Given the description of an element on the screen output the (x, y) to click on. 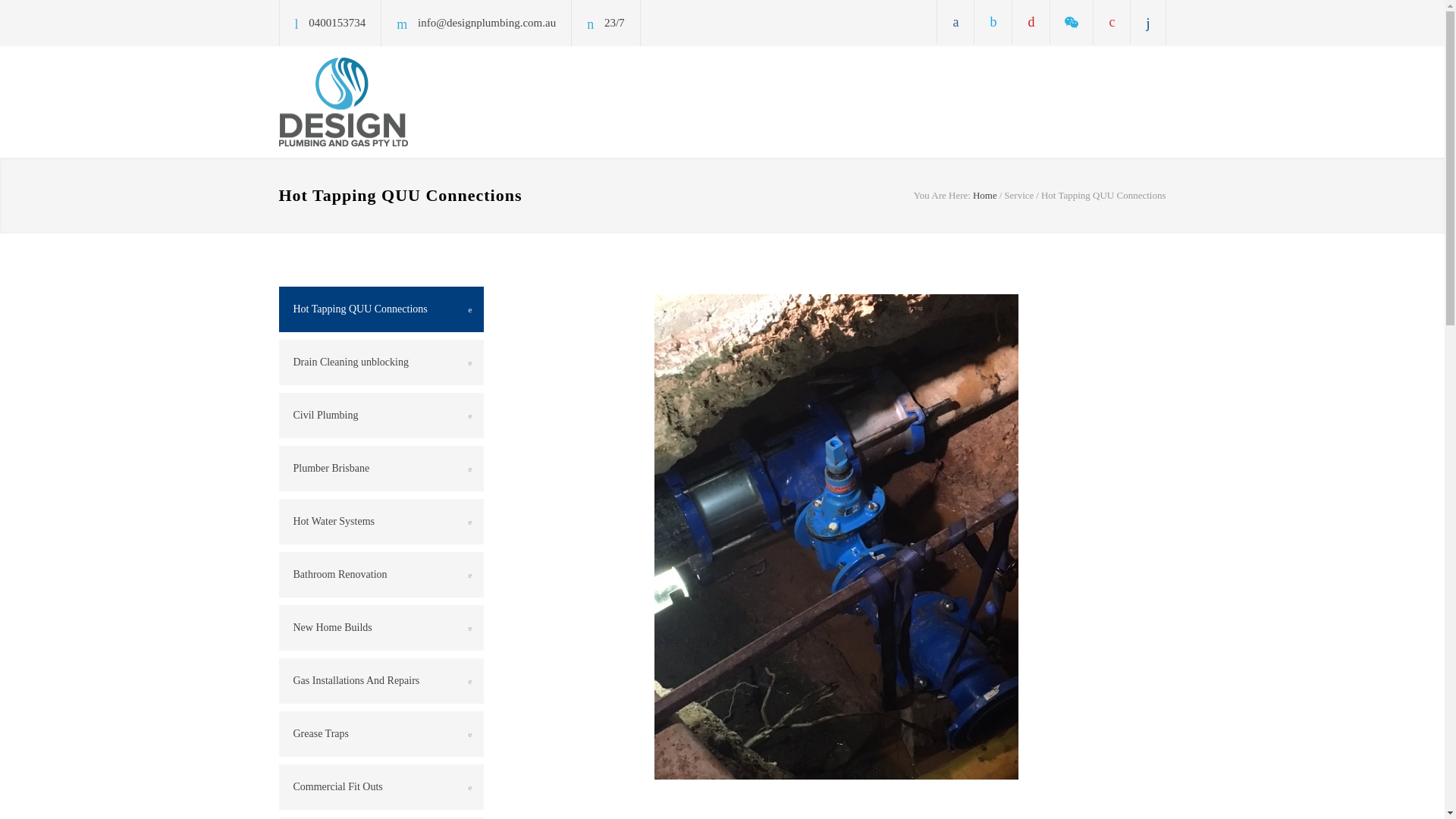
Bathroom Renovation (381, 574)
New Home Builds (381, 627)
Home (984, 194)
Hot Tapping QUU Connections (1103, 194)
Drain Cleaning unblocking (381, 361)
Commercial Fit Outs (381, 786)
Drain Cleaning unblocking (381, 361)
Hot Tapping QUU Connections (381, 309)
Home (984, 194)
Plumber Brisbane (381, 468)
Civil Plumbing (381, 415)
Gas Installations And Repairs (381, 680)
Grease Traps (381, 733)
Bathroom Renovation (381, 574)
